Given the description of an element on the screen output the (x, y) to click on. 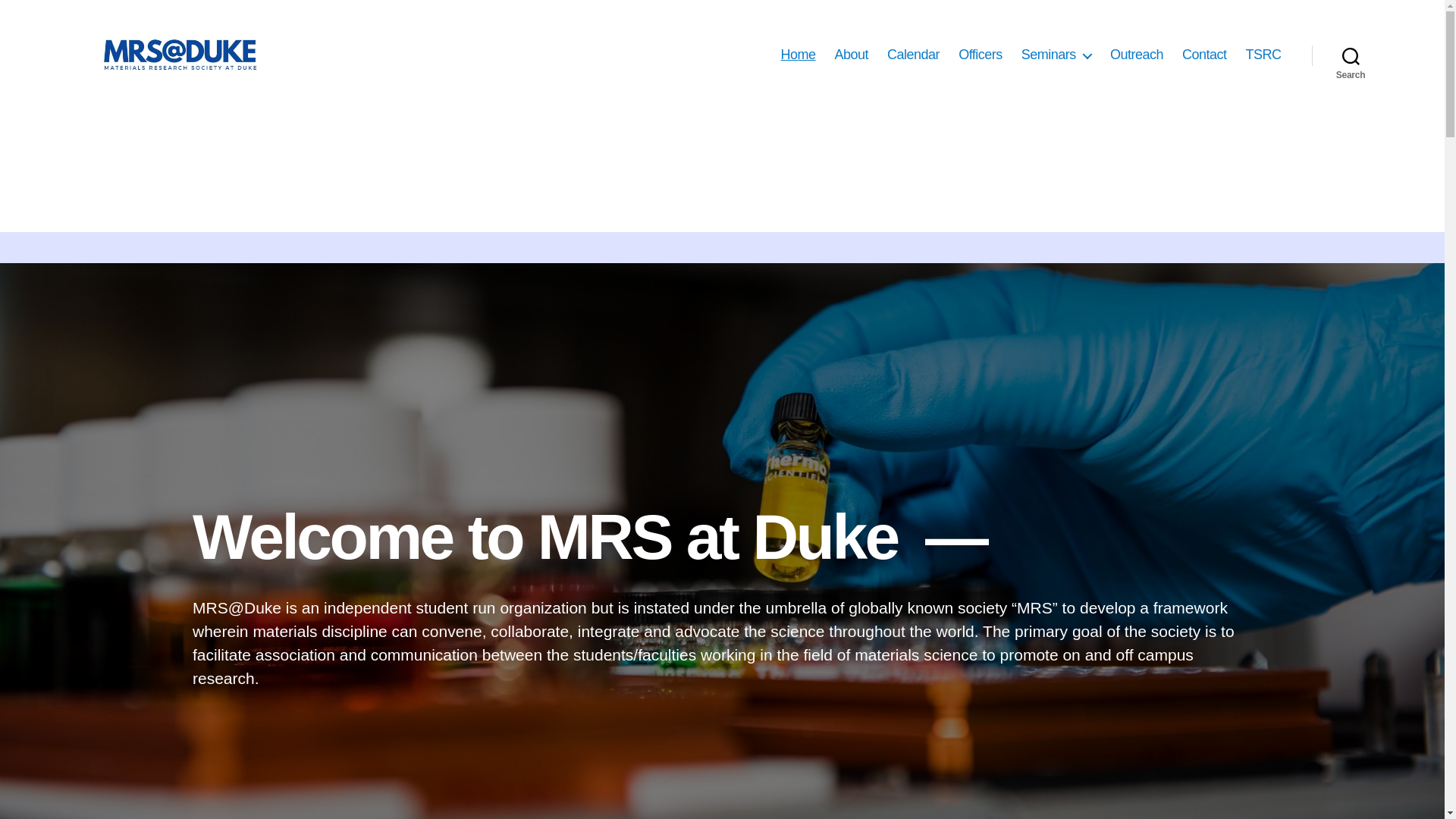
Home (797, 54)
Contact (1204, 54)
Officers (980, 54)
Search (1350, 55)
Outreach (1136, 54)
TSRC (1262, 54)
Seminars (1056, 54)
Calendar (912, 54)
About (851, 54)
